Given the description of an element on the screen output the (x, y) to click on. 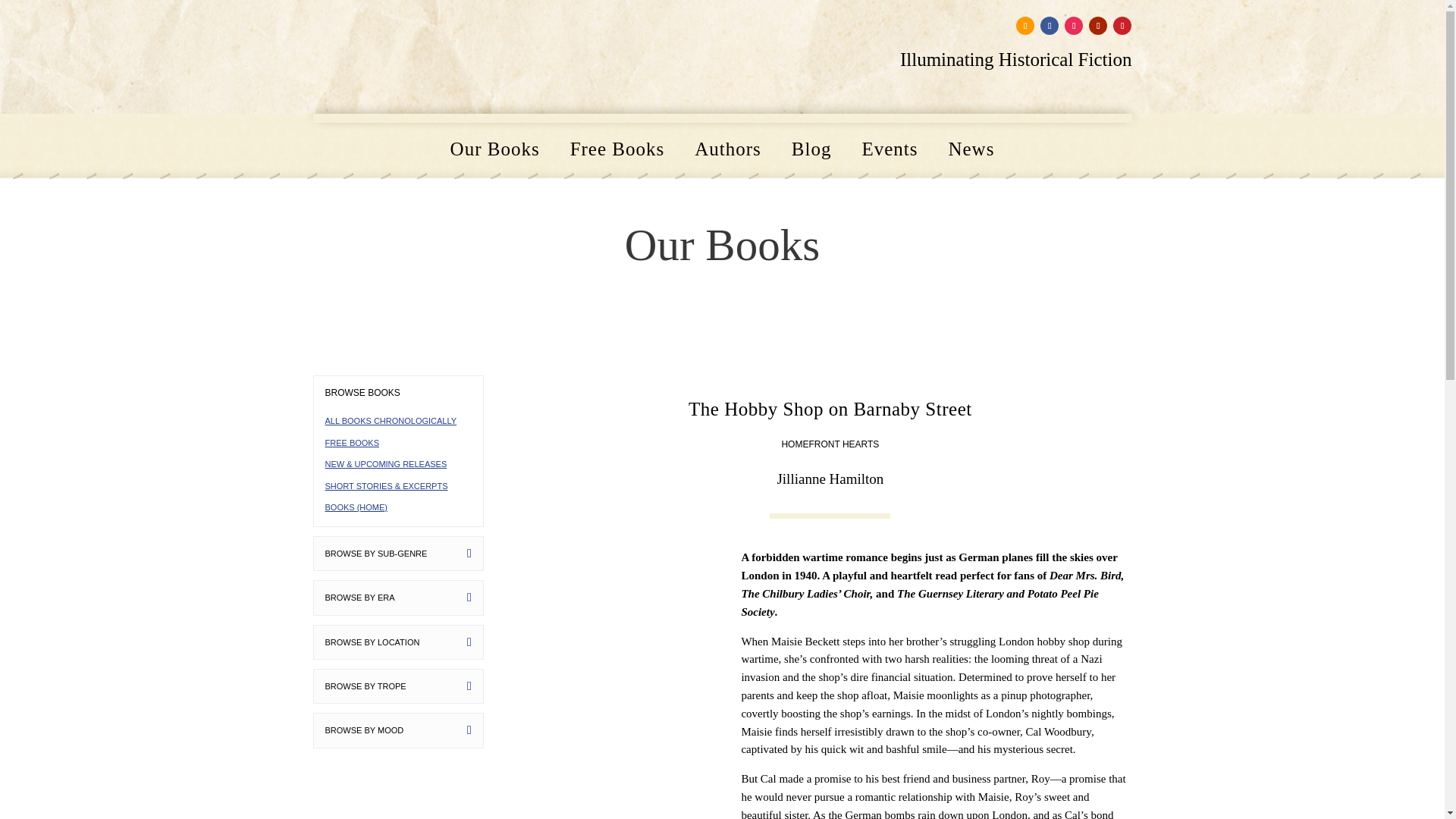
Free Books (617, 152)
The Hobby Shop on Barnaby Street (611, 682)
Follow on Youtube (1097, 25)
Follow on Instagram (1073, 25)
FREE BOOKS (351, 442)
Our Books (494, 152)
Follow on Amazon (1024, 25)
Blog (811, 152)
Authors (727, 152)
ALL BOOKS CHRONOLOGICALLY (390, 420)
Paper Lantern Writers - Historical Fiction Author Collective (398, 56)
Follow on Facebook (1049, 25)
Events (889, 152)
Follow on Pinterest (1122, 25)
